Given the description of an element on the screen output the (x, y) to click on. 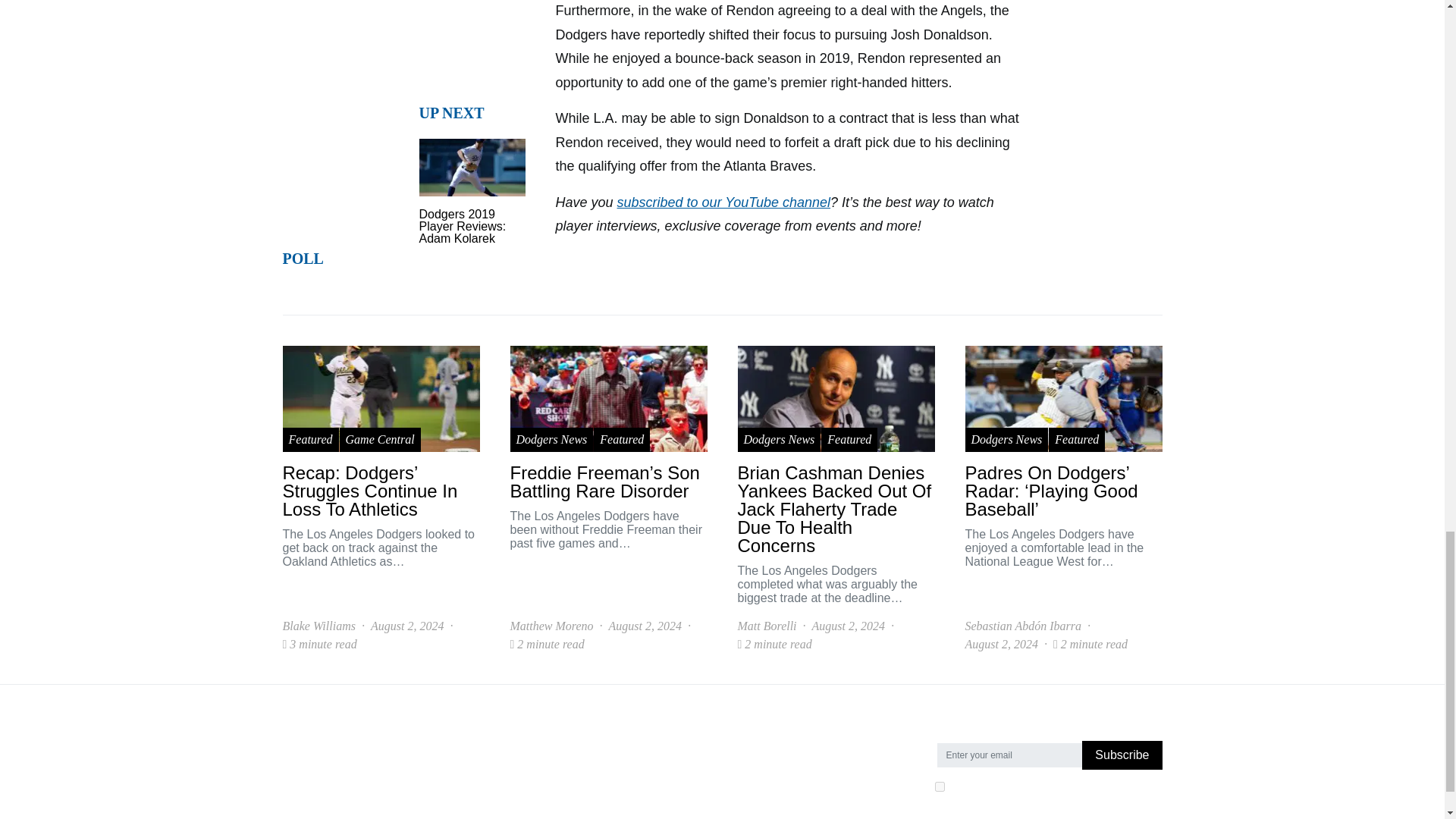
View all posts by Matt Borelli (766, 626)
View all posts by Blake Williams (318, 626)
on (938, 786)
View all posts by Matthew Moreno (550, 626)
